Given the description of an element on the screen output the (x, y) to click on. 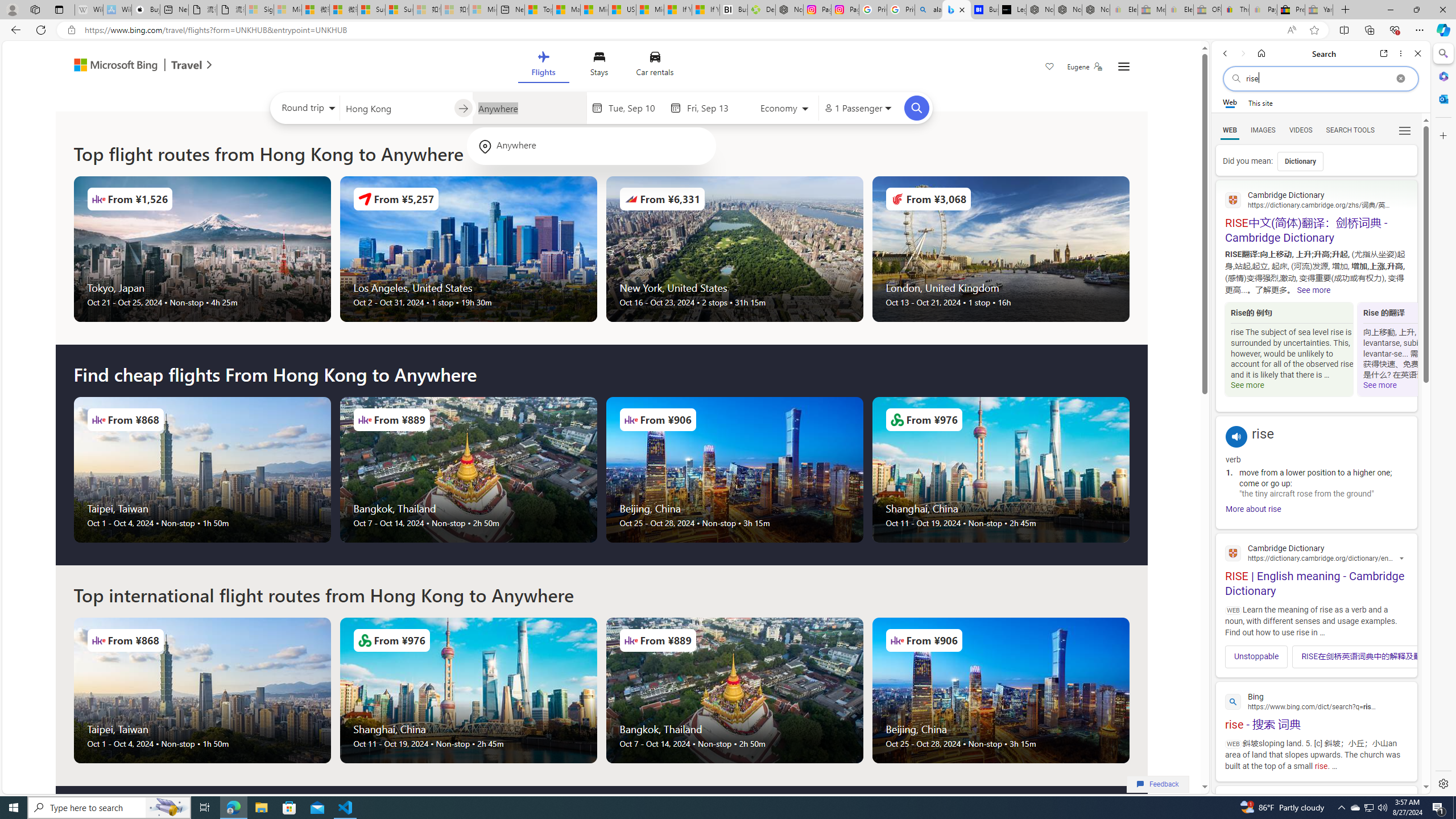
Microsoft Bing Travel - Flights (956, 9)
Buy iPad - Apple (145, 9)
Microsoft Bing (110, 65)
